Given the description of an element on the screen output the (x, y) to click on. 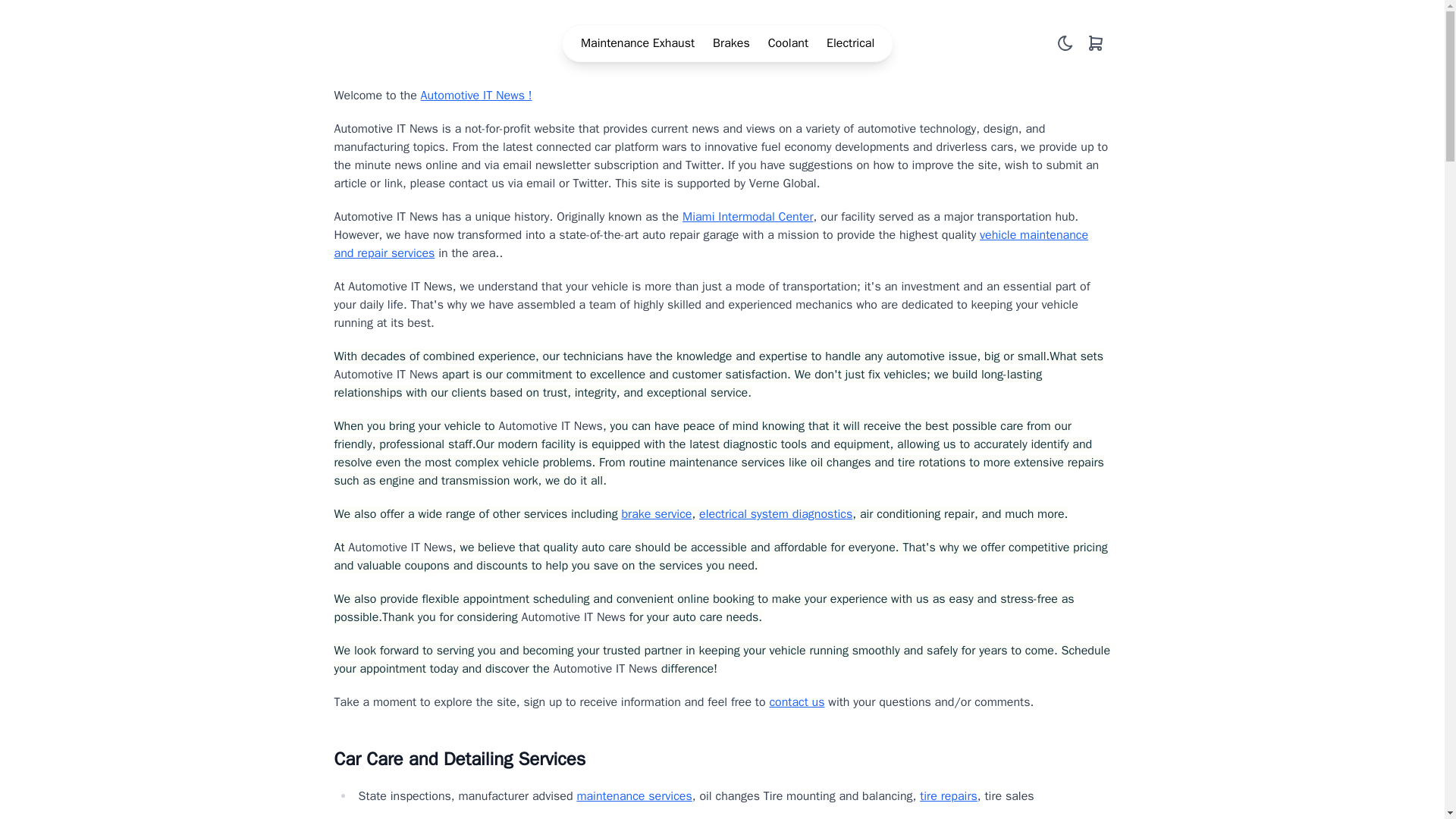
contact us (796, 702)
Miami Intermodal Center (747, 216)
Coolant (788, 43)
maintenance services (633, 795)
Automotive IT News ! (476, 95)
Electrical (851, 43)
Maintenance Exhaust (637, 43)
tire repairs (948, 795)
Brakes (731, 43)
brake service (656, 513)
Electrical (851, 43)
Coolant (788, 43)
Maintenance Exhaust (637, 43)
Automotive IT News - MIC Program (356, 43)
Brakes (731, 43)
